Given the description of an element on the screen output the (x, y) to click on. 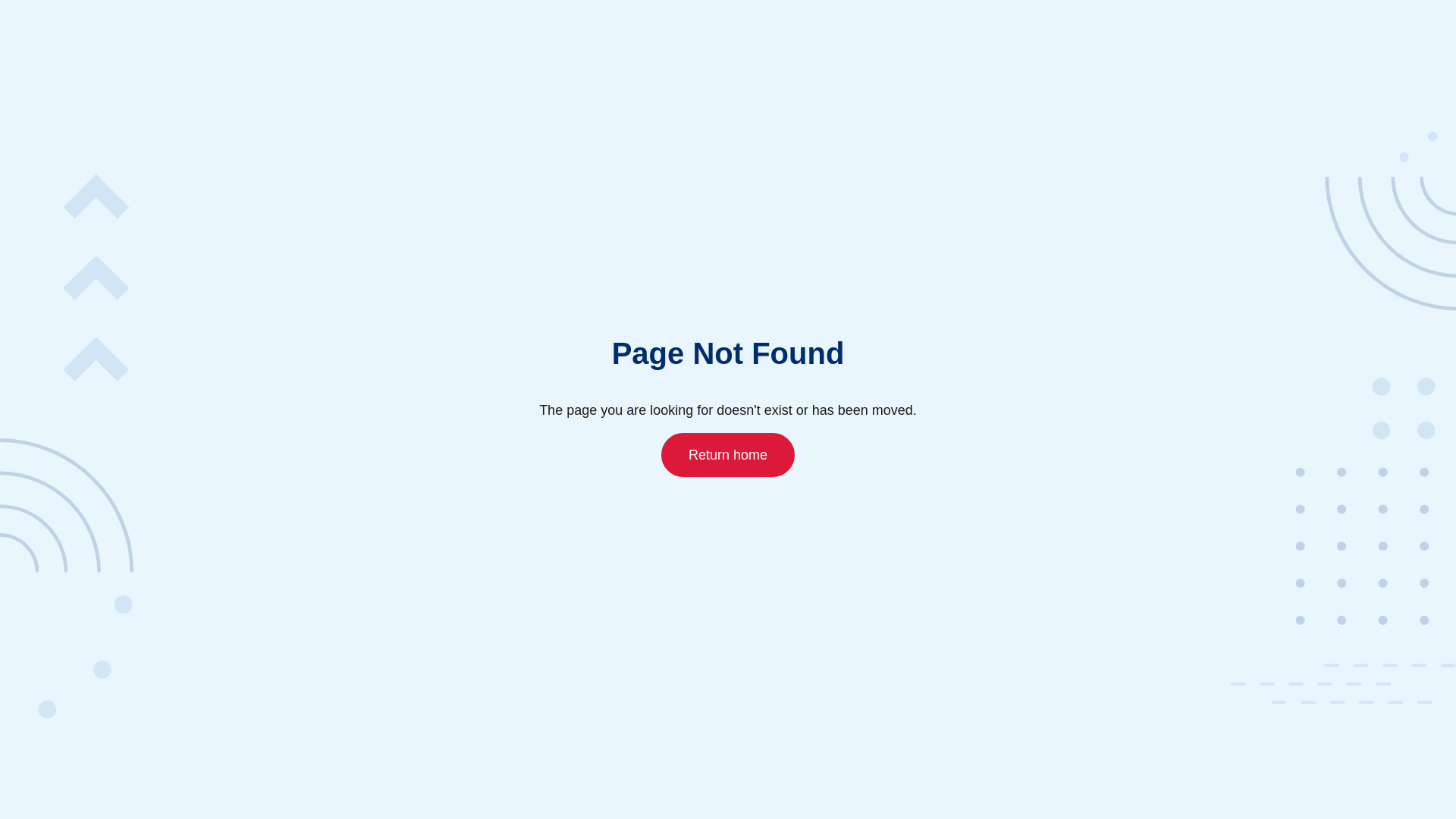
Return home Element type: text (727, 454)
